Given the description of an element on the screen output the (x, y) to click on. 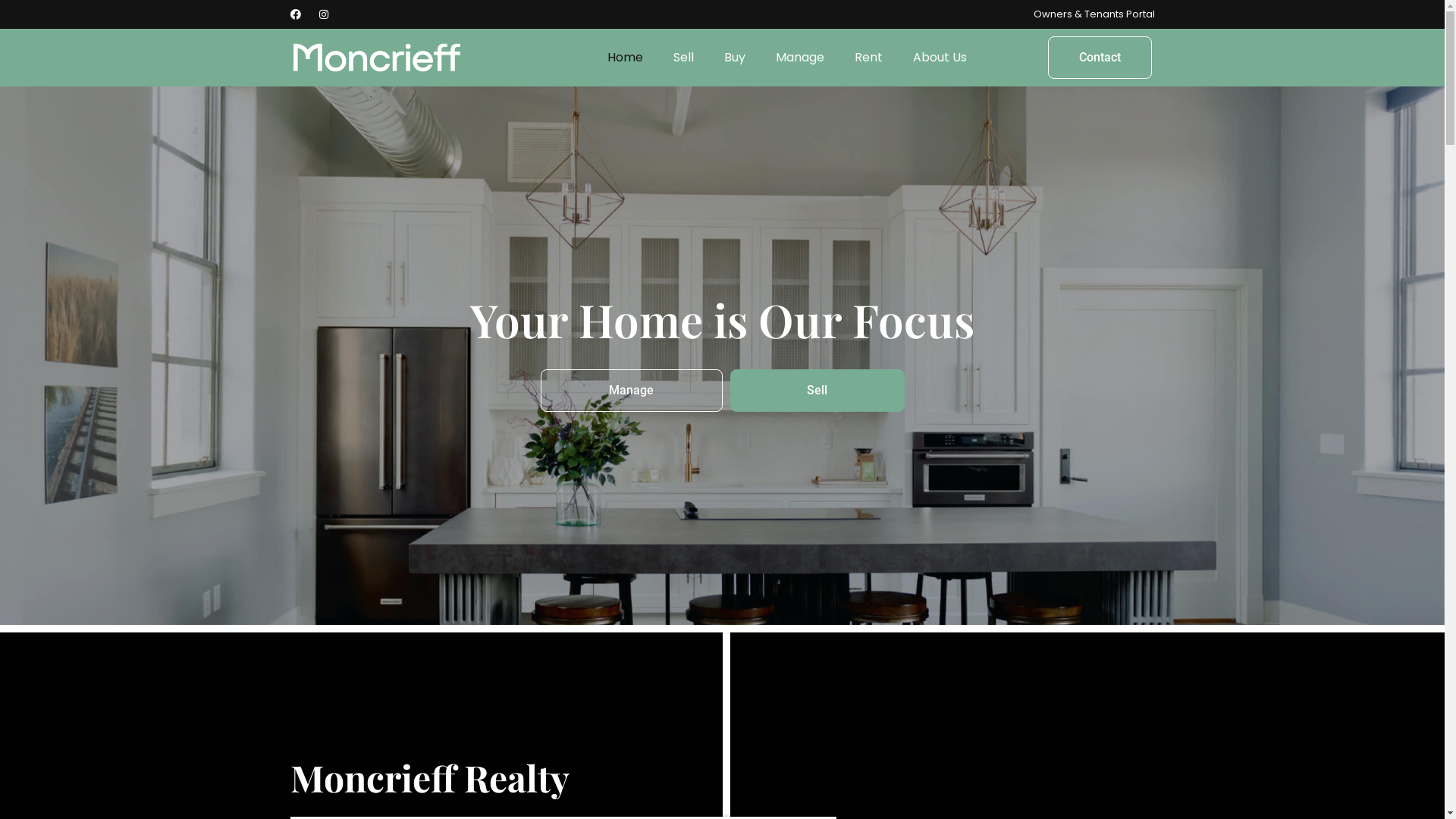
Sell Element type: text (816, 390)
Sell Element type: text (683, 57)
Buy Element type: text (733, 57)
Rent Element type: text (867, 57)
Manage Element type: text (798, 57)
Owners & Tenants Portal Element type: text (1093, 14)
Contact Element type: text (1099, 57)
Home Element type: text (624, 57)
Manage Element type: text (630, 390)
About Us Element type: text (939, 57)
